Given the description of an element on the screen output the (x, y) to click on. 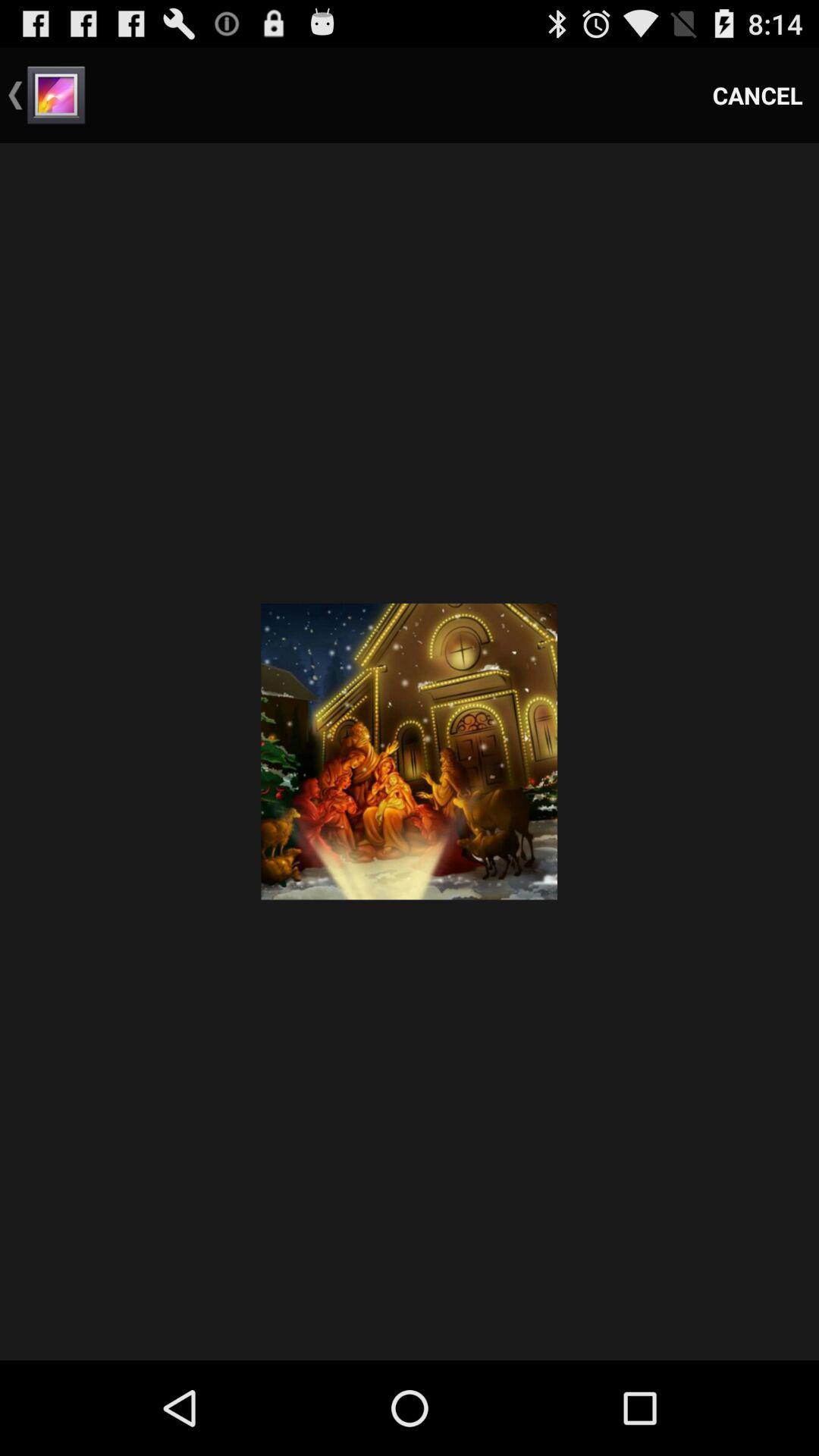
turn on cancel item (757, 95)
